Given the description of an element on the screen output the (x, y) to click on. 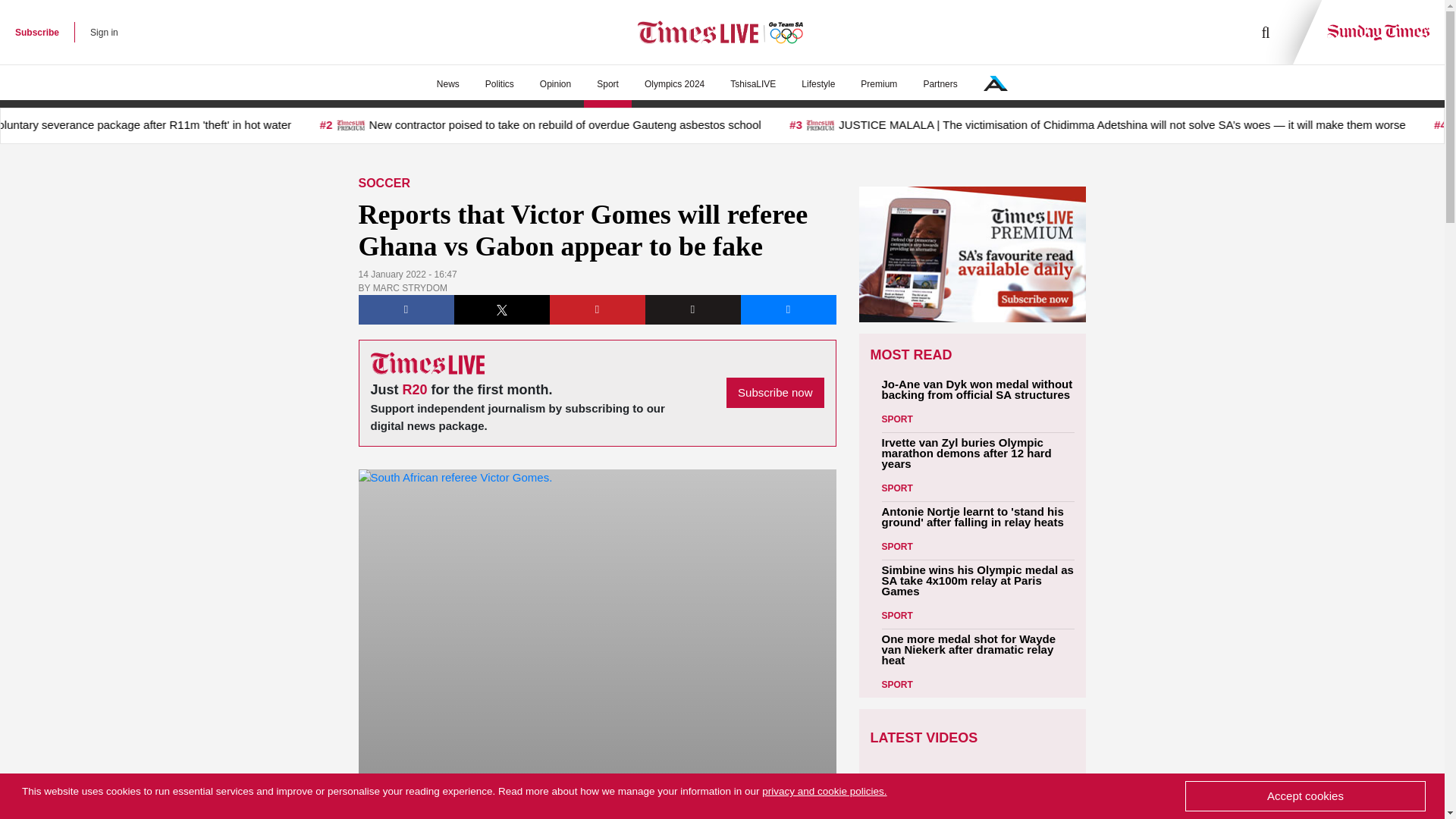
Our Network (995, 83)
Opinion (555, 84)
News (447, 84)
Sign in (103, 32)
Partners (939, 84)
Olympics 2024 (674, 84)
Politics (499, 84)
Sport (607, 84)
TshisaLIVE (753, 84)
Premium (878, 84)
